Given the description of an element on the screen output the (x, y) to click on. 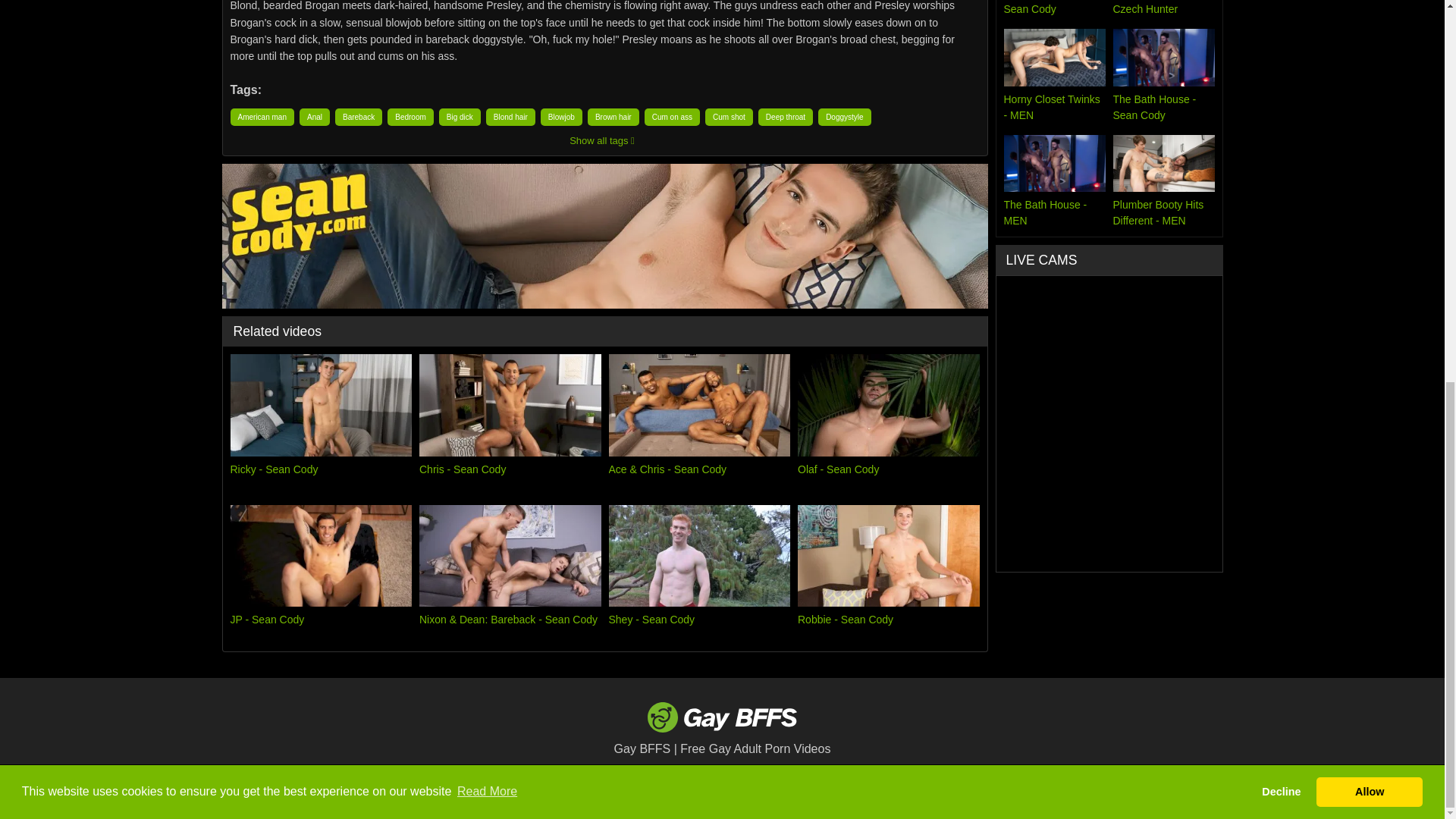
American man (262, 117)
Anal (314, 117)
Bedroom (410, 117)
Bareback (357, 117)
